Given the description of an element on the screen output the (x, y) to click on. 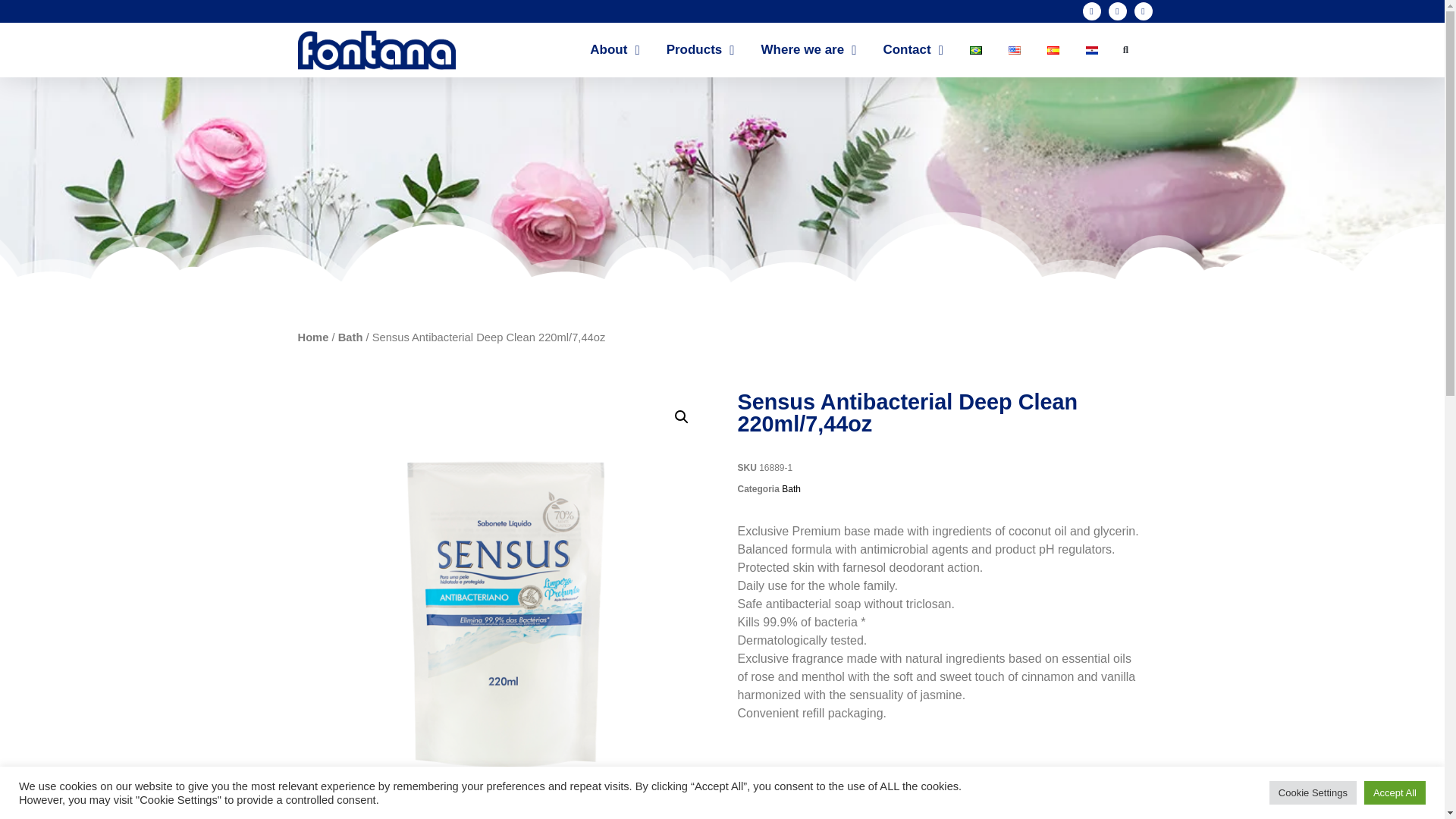
About (614, 49)
Contact (912, 49)
Where we are (809, 49)
Products (700, 49)
